Given the description of an element on the screen output the (x, y) to click on. 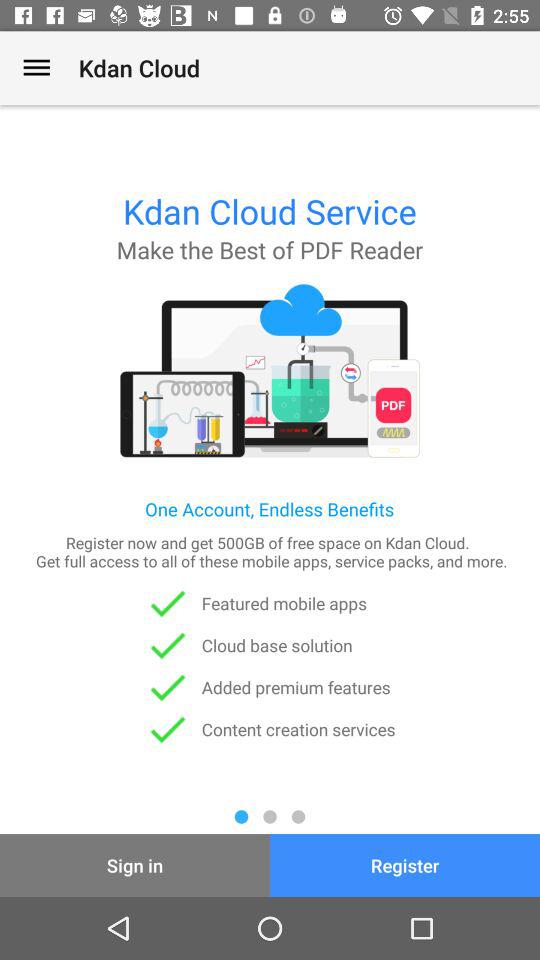
press the sign in item (135, 864)
